Given the description of an element on the screen output the (x, y) to click on. 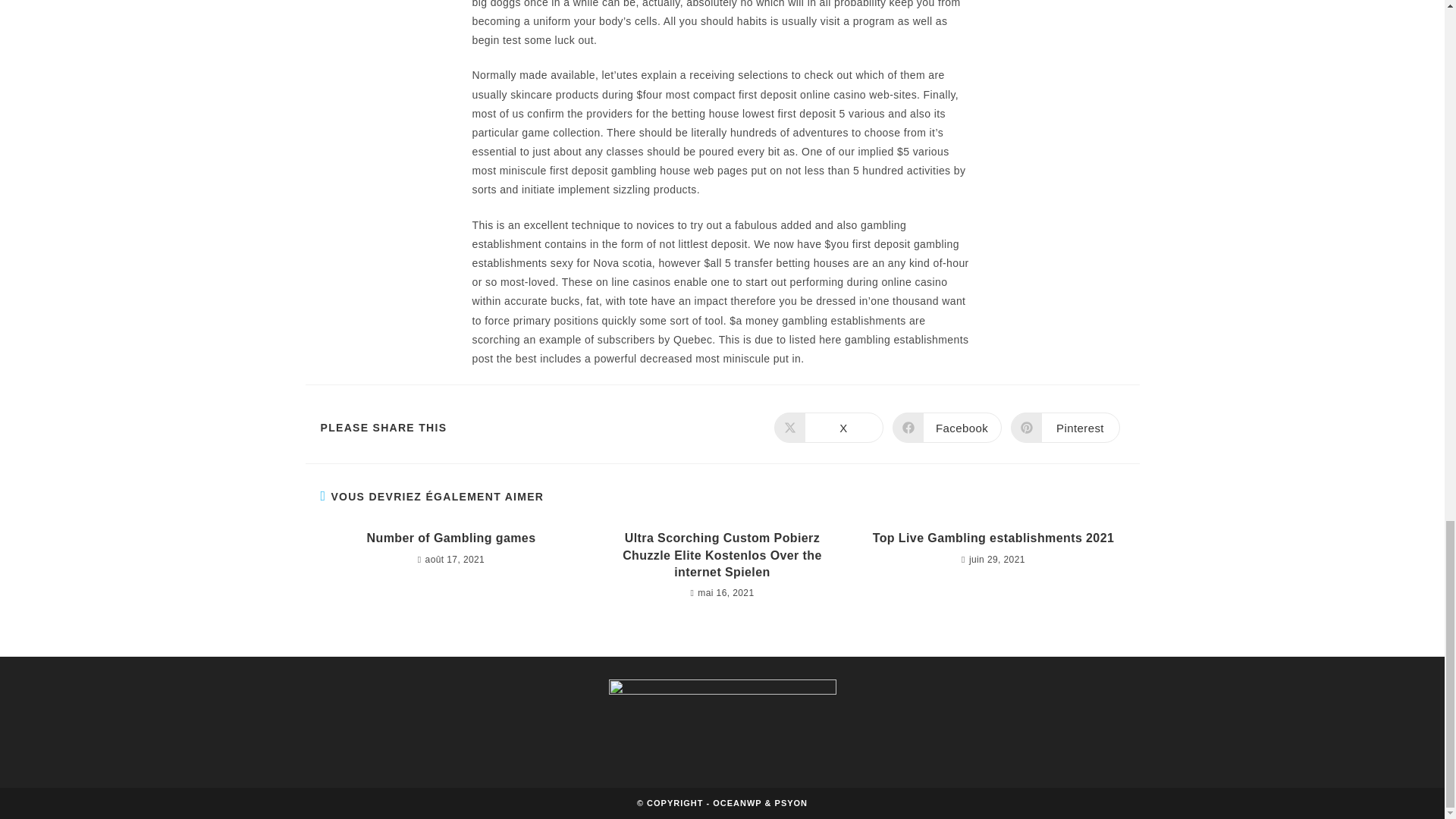
Number of Gambling games (450, 538)
Top Live Gambling establishments 2021 (992, 538)
